Given the description of an element on the screen output the (x, y) to click on. 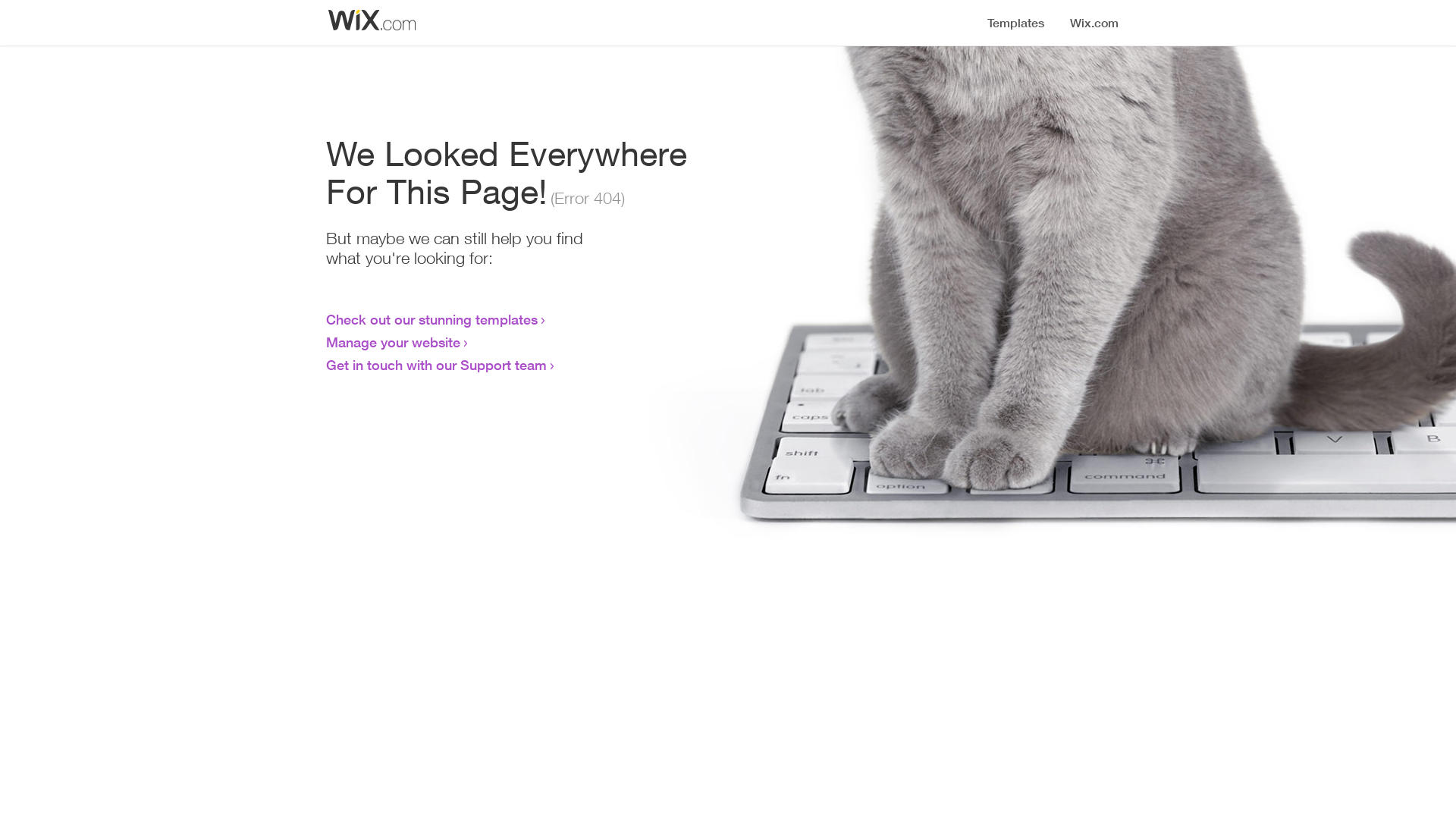
Check out our stunning templates Element type: text (431, 318)
Get in touch with our Support team Element type: text (436, 364)
Manage your website Element type: text (393, 341)
